Given the description of an element on the screen output the (x, y) to click on. 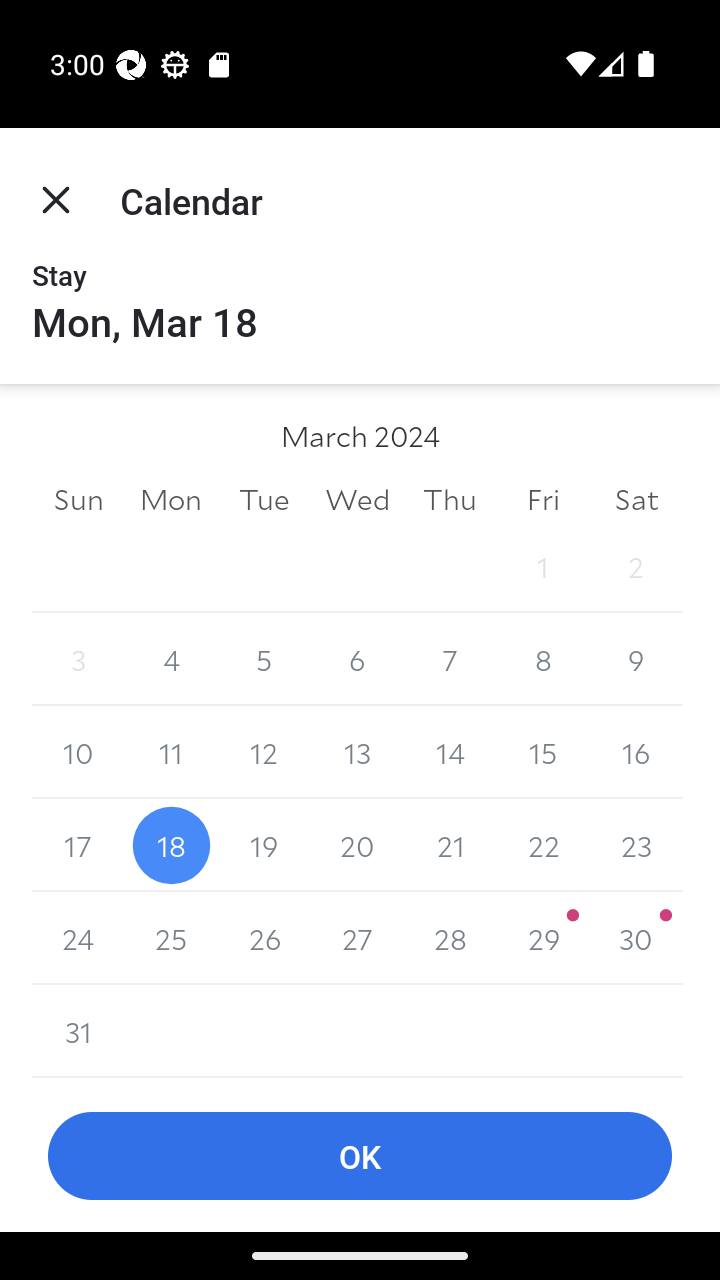
Sun (78, 498)
Mon (171, 498)
Tue (264, 498)
Wed (357, 498)
Thu (449, 498)
Fri (542, 498)
Sat (636, 498)
1 1 March 2024 (542, 566)
2 2 March 2024 (636, 566)
3 3 March 2024 (78, 659)
4 4 March 2024 (171, 659)
5 5 March 2024 (264, 659)
6 6 March 2024 (357, 659)
7 7 March 2024 (449, 659)
8 8 March 2024 (542, 659)
9 9 March 2024 (636, 659)
10 10 March 2024 (78, 752)
11 11 March 2024 (171, 752)
12 12 March 2024 (264, 752)
13 13 March 2024 (357, 752)
14 14 March 2024 (449, 752)
15 15 March 2024 (542, 752)
16 16 March 2024 (636, 752)
17 17 March 2024 (78, 845)
18 18 March 2024 (171, 845)
19 19 March 2024 (264, 845)
20 20 March 2024 (357, 845)
21 21 March 2024 (449, 845)
22 22 March 2024 (542, 845)
23 23 March 2024 (636, 845)
24 24 March 2024 (78, 938)
25 25 March 2024 (171, 938)
26 26 March 2024 (264, 938)
27 27 March 2024 (357, 938)
28 28 March 2024 (449, 938)
29 29 March 2024 (542, 938)
30 30 March 2024 (636, 938)
31 31 March 2024 (78, 1031)
OK (359, 1156)
